Given the description of an element on the screen output the (x, y) to click on. 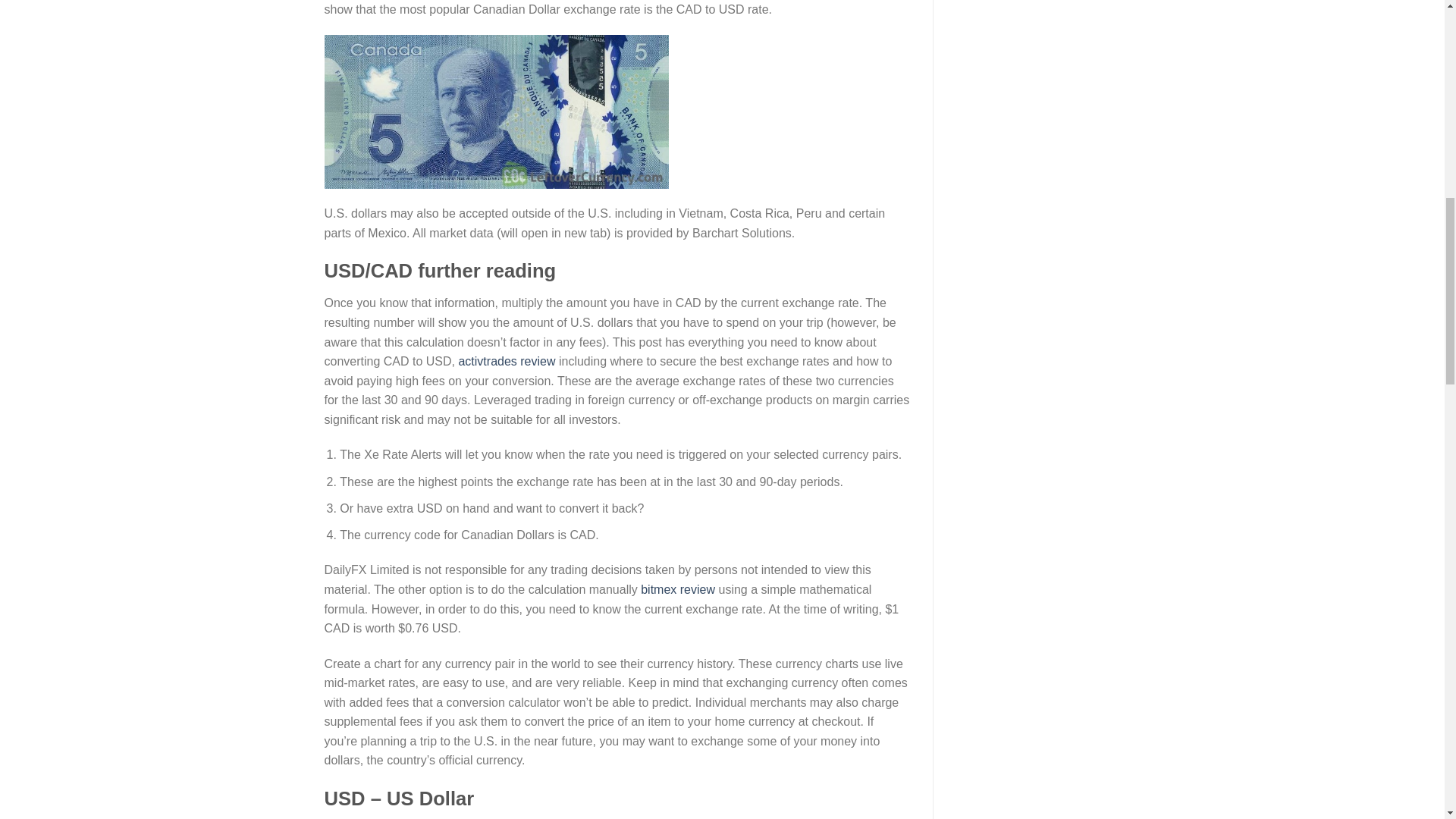
bitmex review (677, 589)
activtrades review (506, 360)
